Given the description of an element on the screen output the (x, y) to click on. 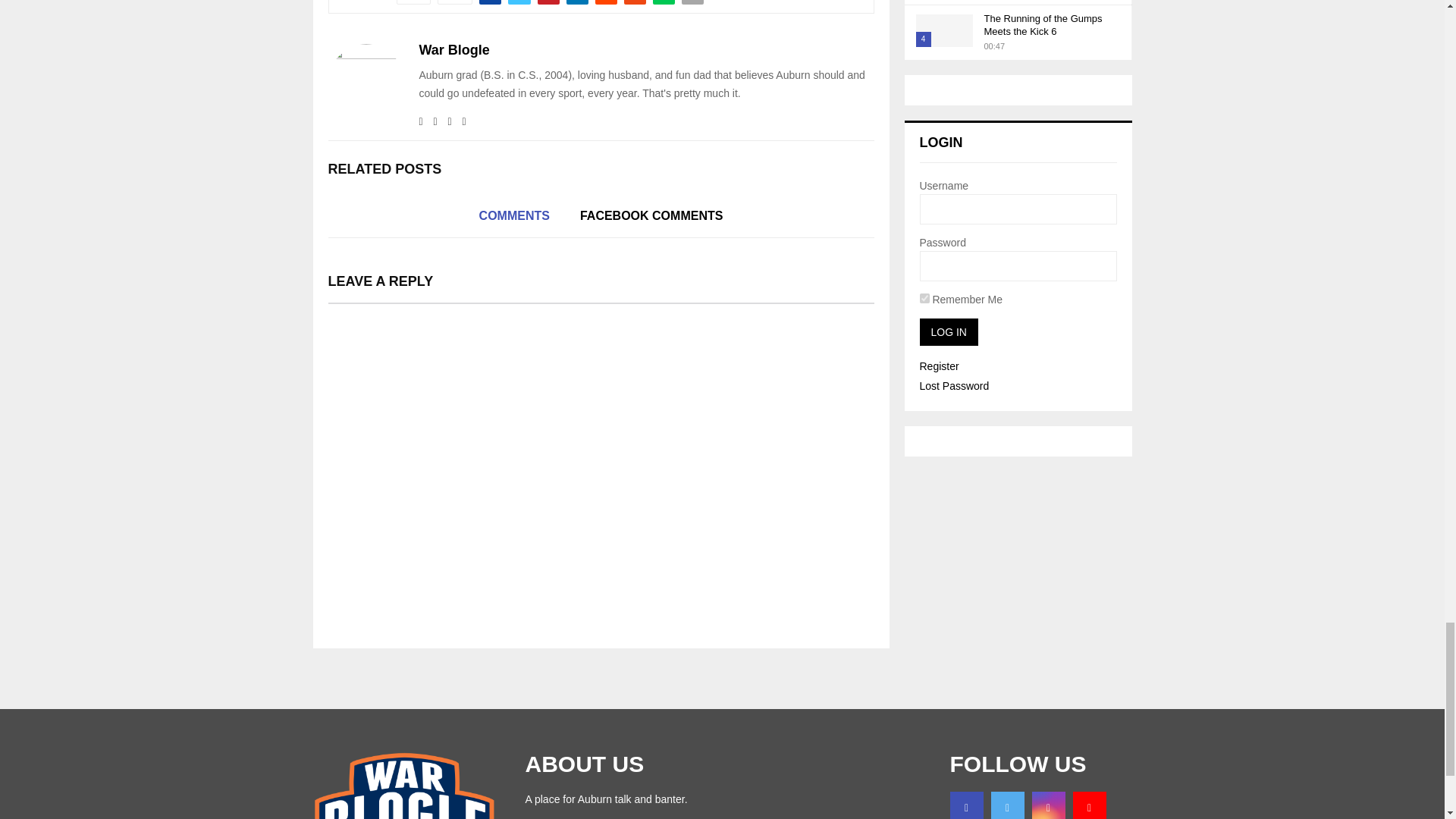
forever (923, 298)
Log In (947, 331)
